Given the description of an element on the screen output the (x, y) to click on. 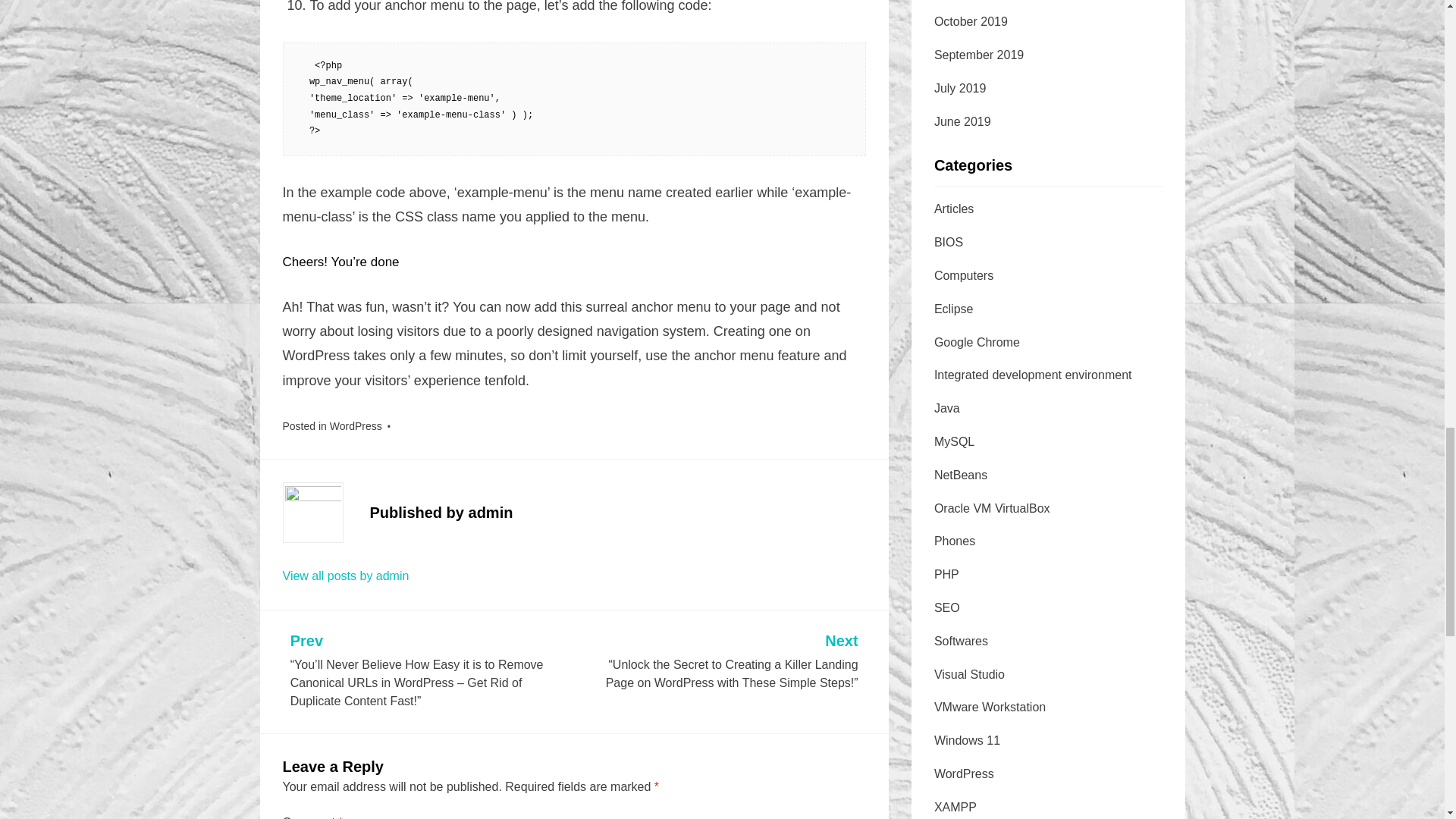
View all posts by admin (345, 575)
WordPress (355, 426)
